Given the description of an element on the screen output the (x, y) to click on. 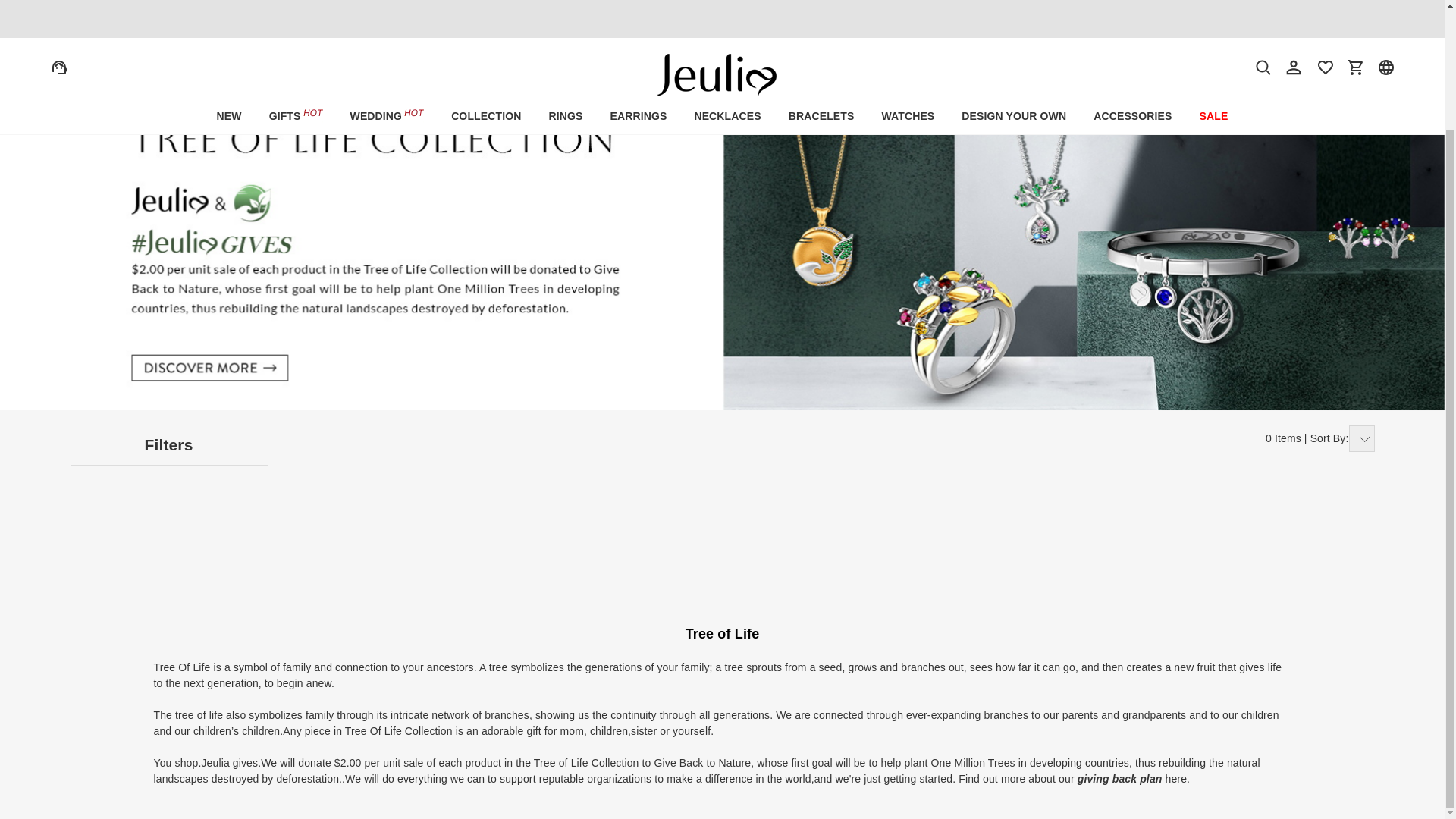
Home (50, 61)
Collection (96, 61)
giving back plan (1119, 778)
Tree of Life (152, 61)
